Given the description of an element on the screen output the (x, y) to click on. 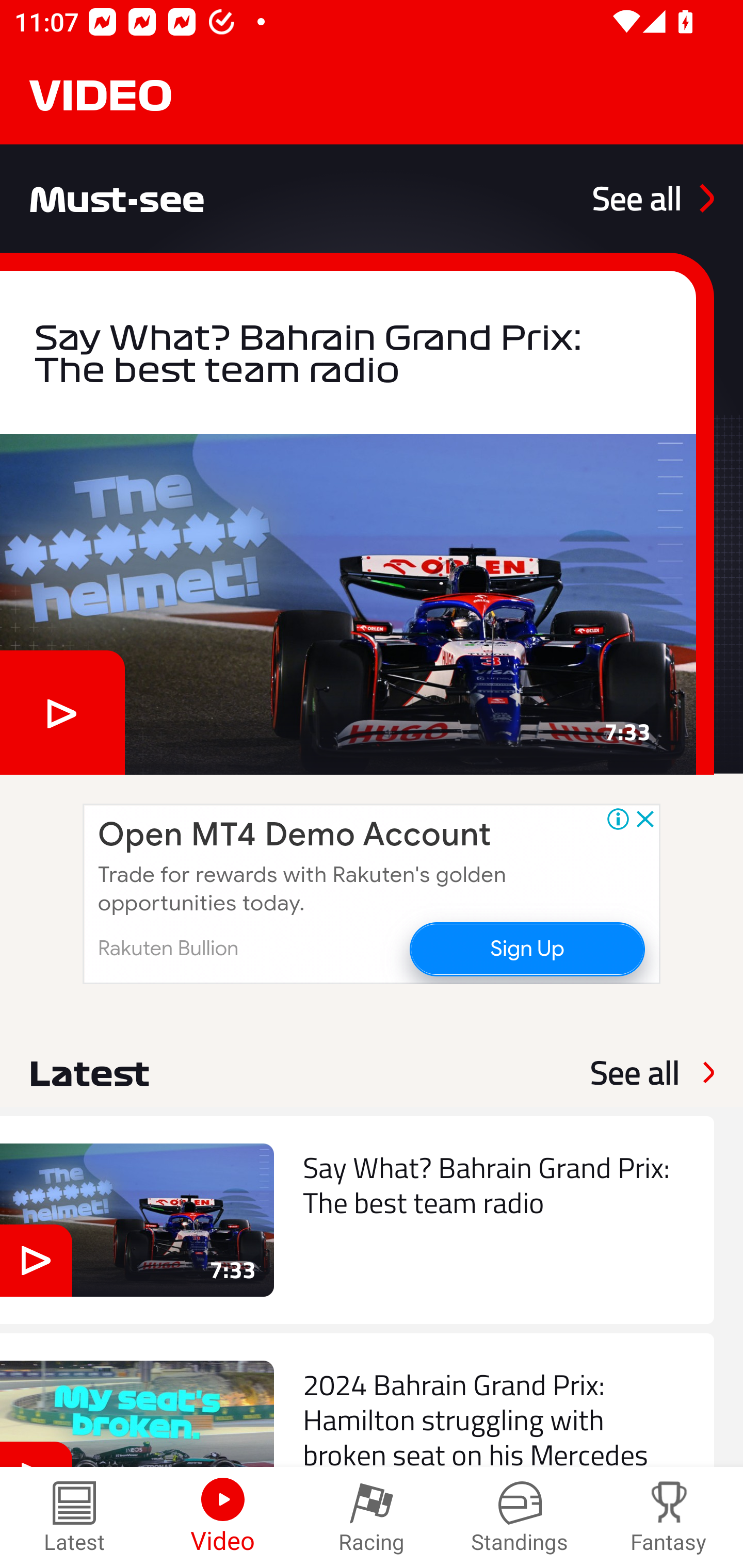
See all (653, 198)
Open MT4 Demo Account (294, 834)
Sign Up (526, 948)
Rakuten Bullion (168, 948)
See all (634, 1072)
Latest (74, 1517)
Racing (371, 1517)
Standings (519, 1517)
Fantasy (668, 1517)
